Given the description of an element on the screen output the (x, y) to click on. 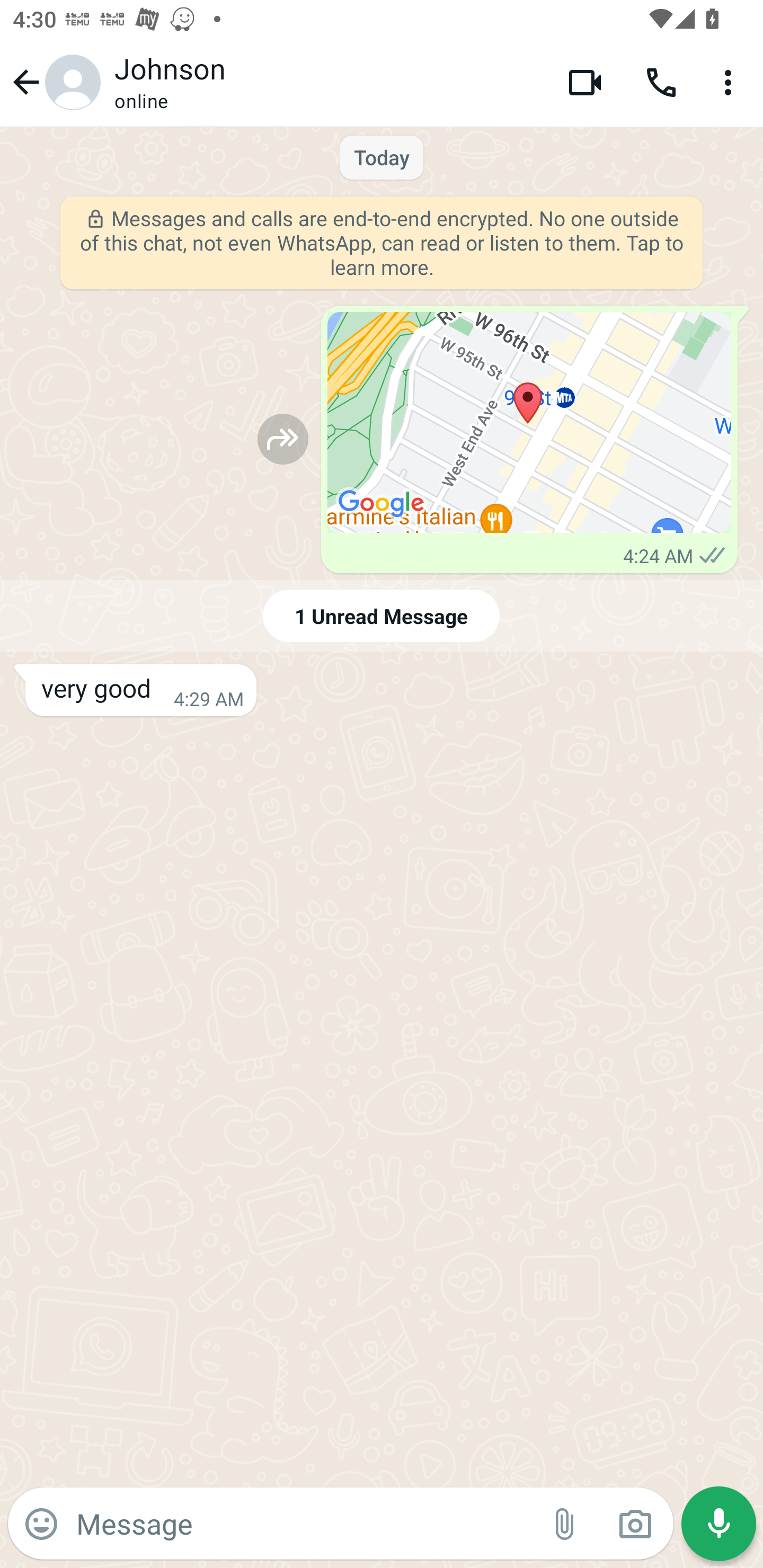
Johnson online (327, 82)
Navigate up (54, 82)
Video call (585, 81)
Voice call (661, 81)
More options (731, 81)
Location (528, 422)
Forward to… (282, 438)
Emoji (41, 1523)
Attach (565, 1523)
Camera (634, 1523)
Message (303, 1523)
